Given the description of an element on the screen output the (x, y) to click on. 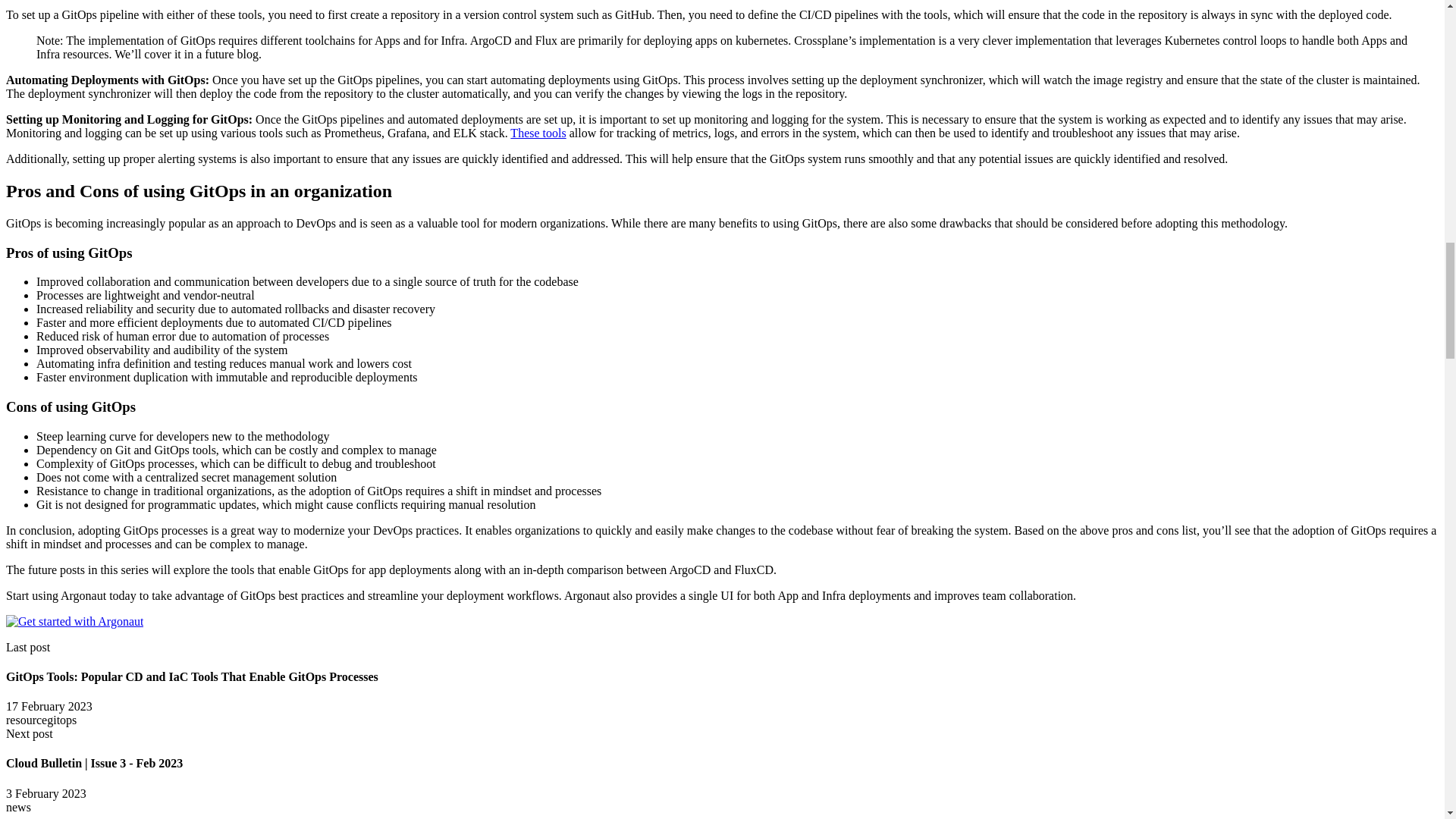
These tools (538, 132)
Get started for free (73, 621)
